Given the description of an element on the screen output the (x, y) to click on. 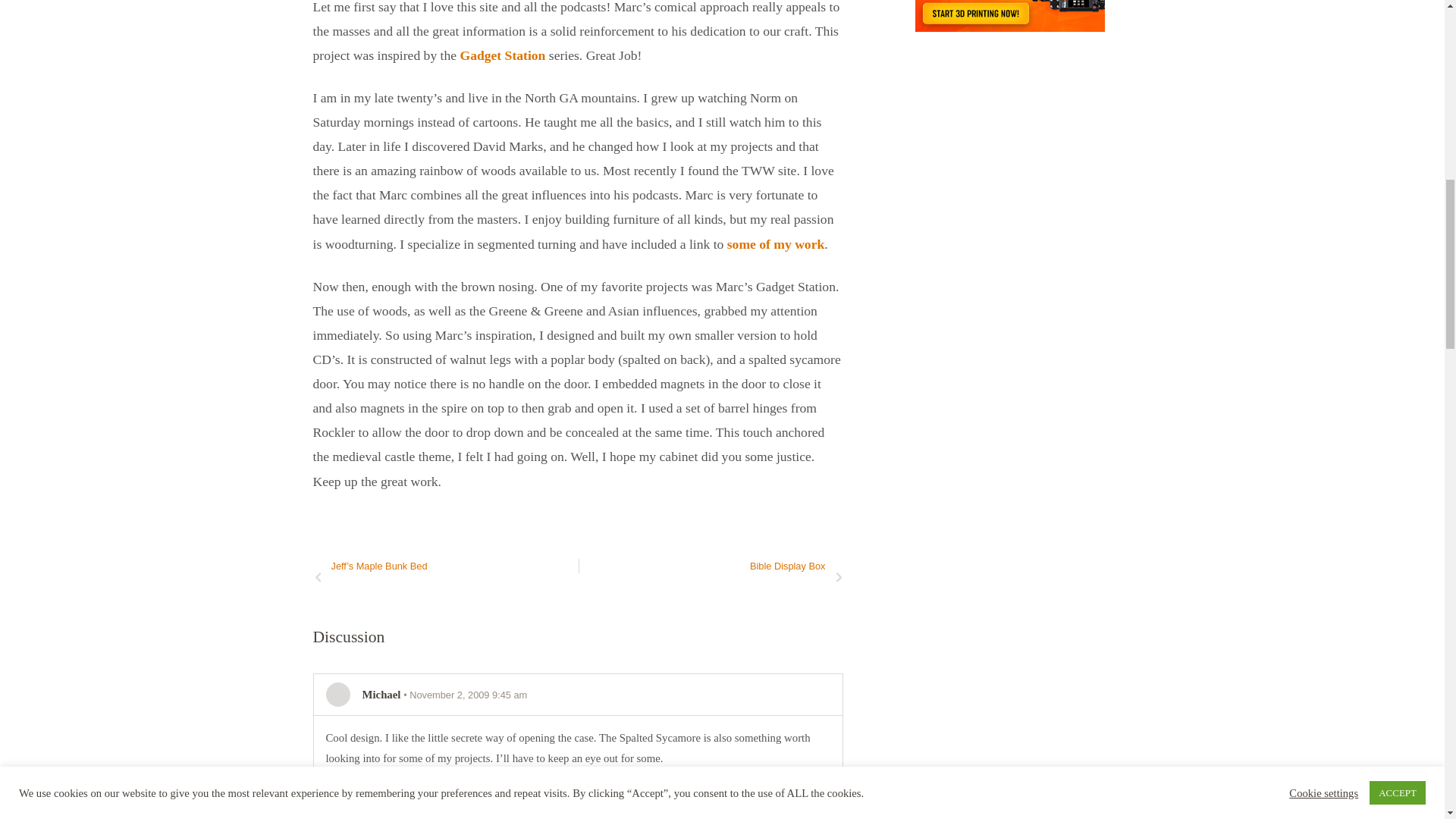
The best printer of 2021 (1010, 15)
